Given the description of an element on the screen output the (x, y) to click on. 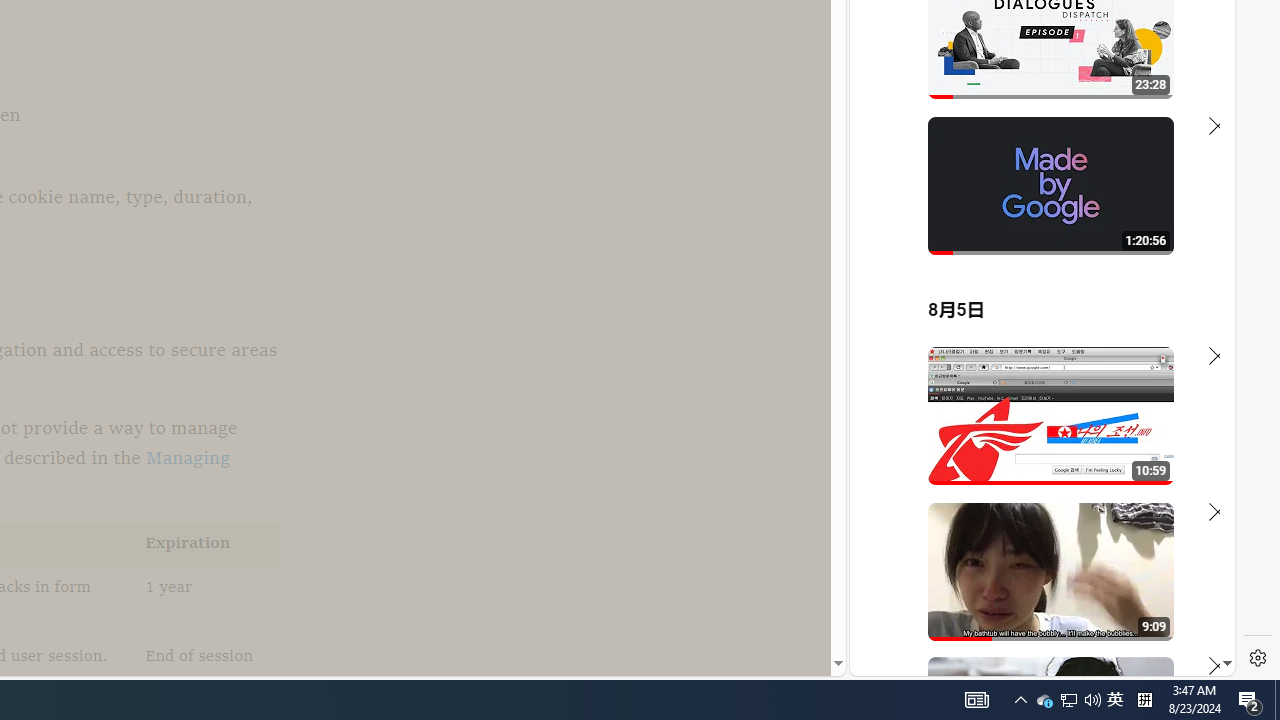
1 year (207, 600)
YouTube (1034, 432)
Show desktop (1277, 699)
US[ju] (917, 660)
YouTube - YouTube (1034, 266)
#you (1034, 439)
Class: dict_pnIcon rms_img (1028, 660)
AutomationID: 4105 (976, 699)
